Given the description of an element on the screen output the (x, y) to click on. 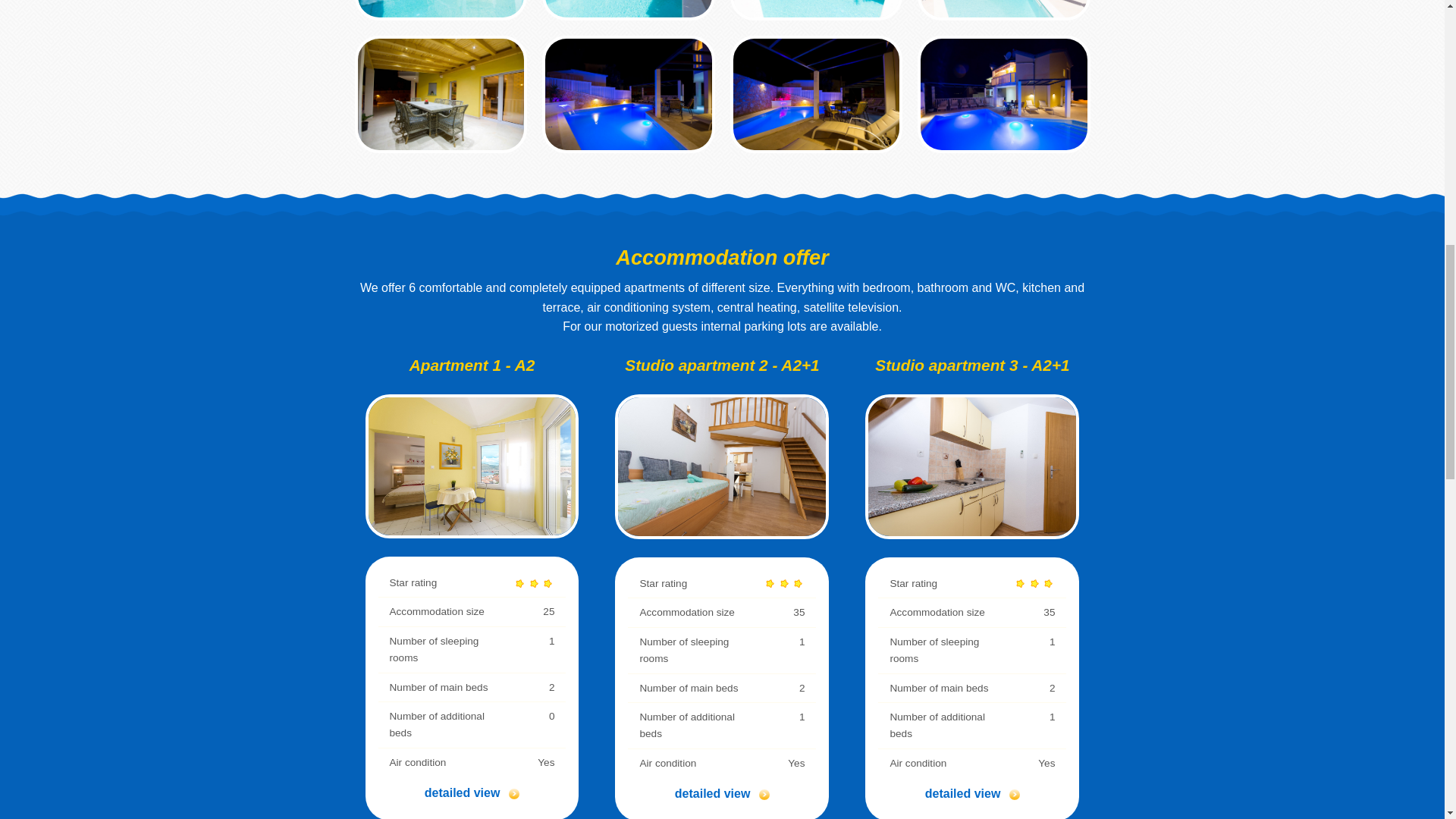
Apartment 1 - A2 (472, 464)
